Given the description of an element on the screen output the (x, y) to click on. 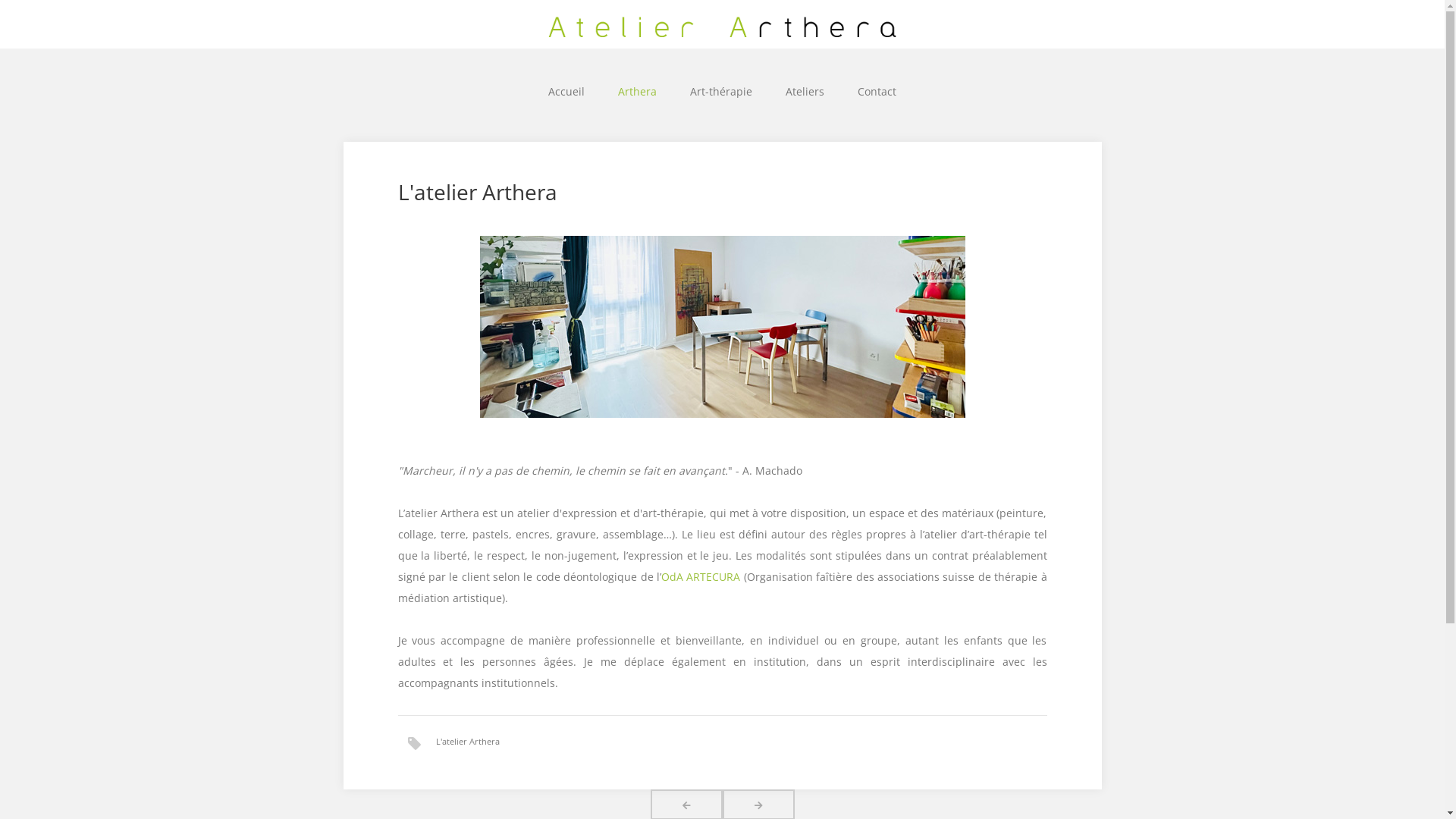
Ateliers Element type: text (804, 90)
OdA ARTECURA Element type: text (702, 576)
Contact Element type: text (876, 90)
A r t h e r a Element type: hover (722, 24)
L'atelier Arthera Element type: text (466, 740)
Accueil Element type: text (566, 90)
Arthera Element type: text (637, 90)
